Given the description of an element on the screen output the (x, y) to click on. 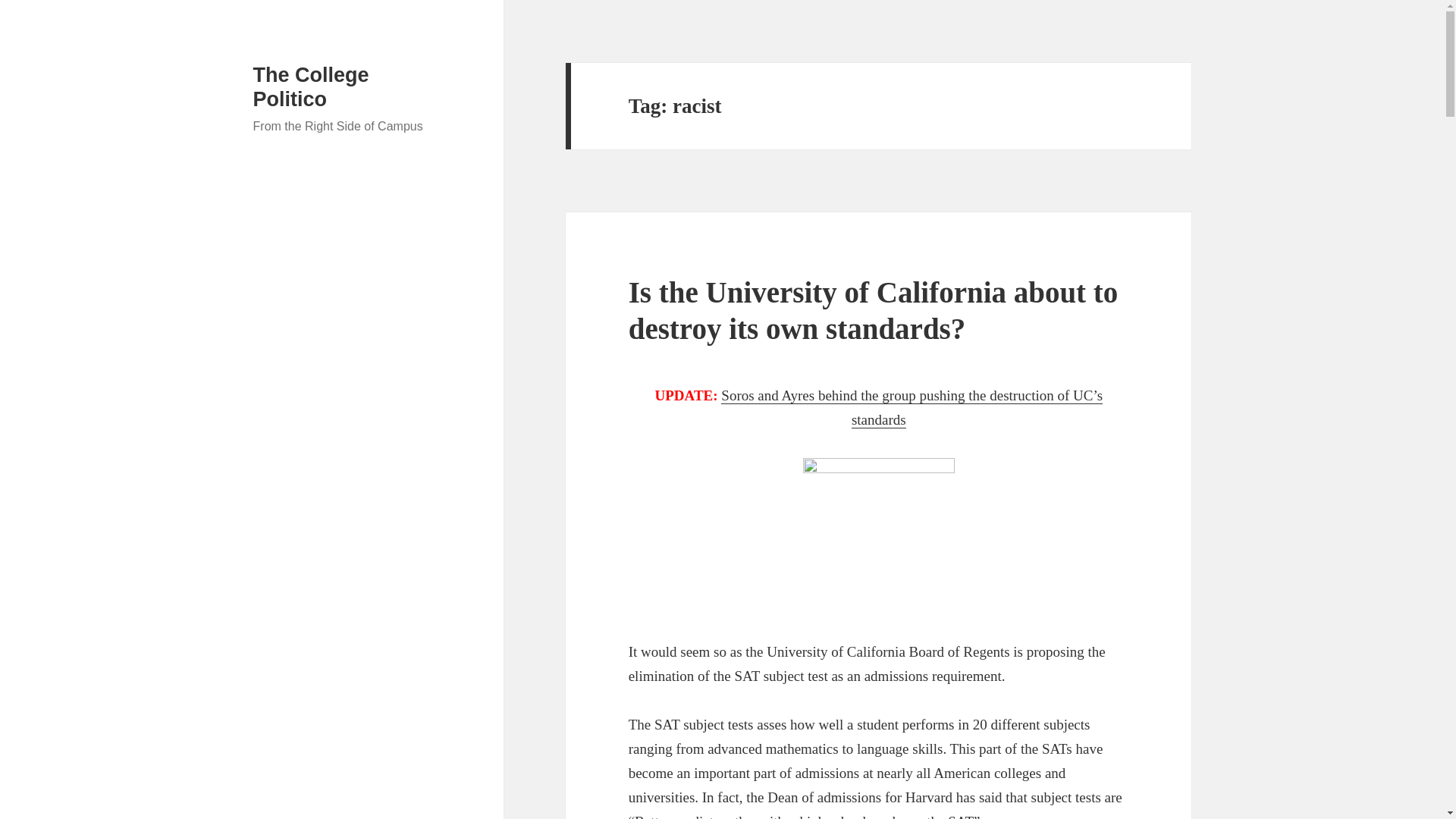
Further research from yours truely (911, 407)
the university of california (879, 535)
The College Politico (311, 86)
